Given the description of an element on the screen output the (x, y) to click on. 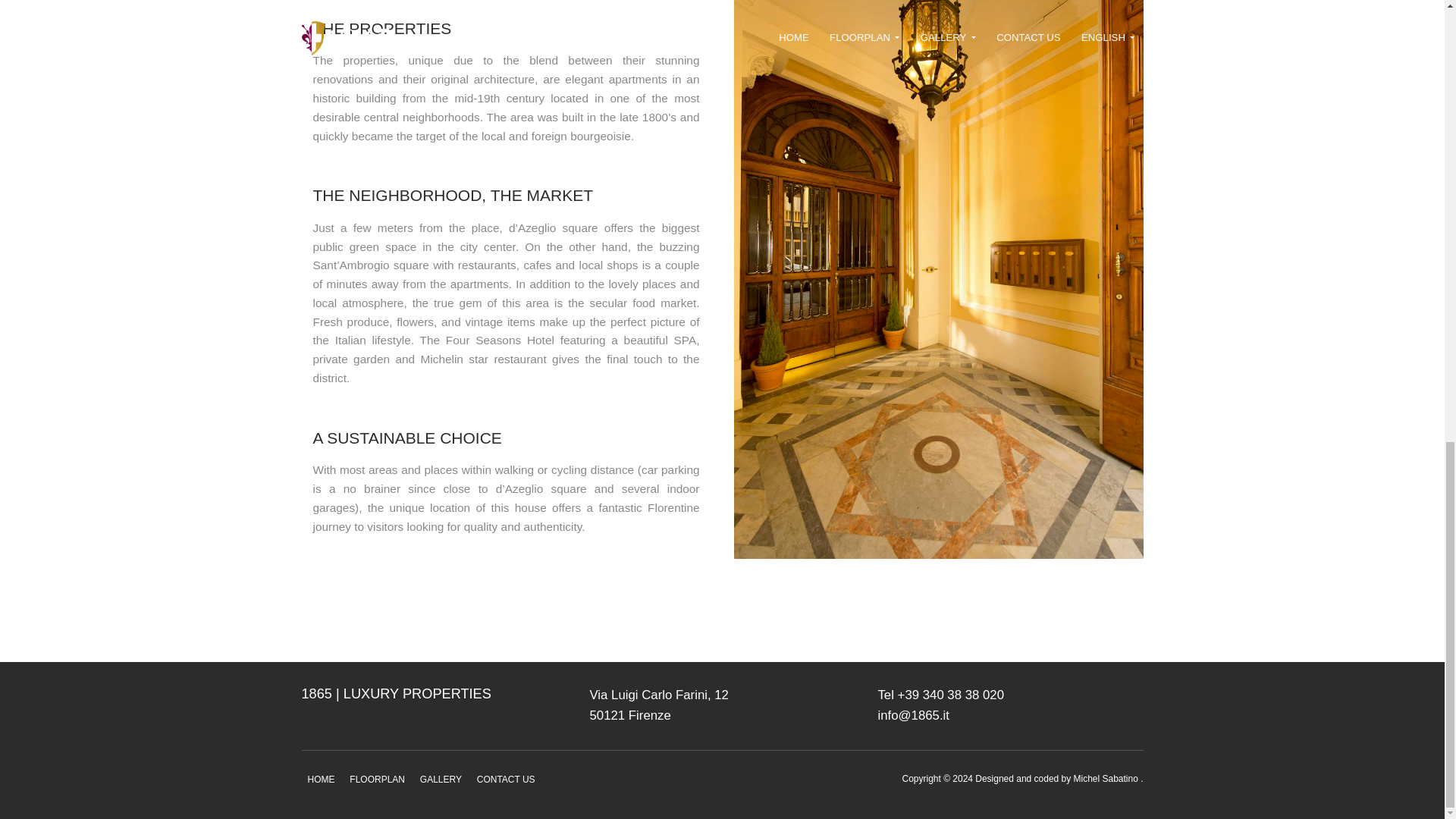
Michel Sabatino (1107, 778)
FLOORPLAN (376, 779)
HOME (320, 779)
GALLERY (440, 779)
CONTACT US (505, 779)
